Given the description of an element on the screen output the (x, y) to click on. 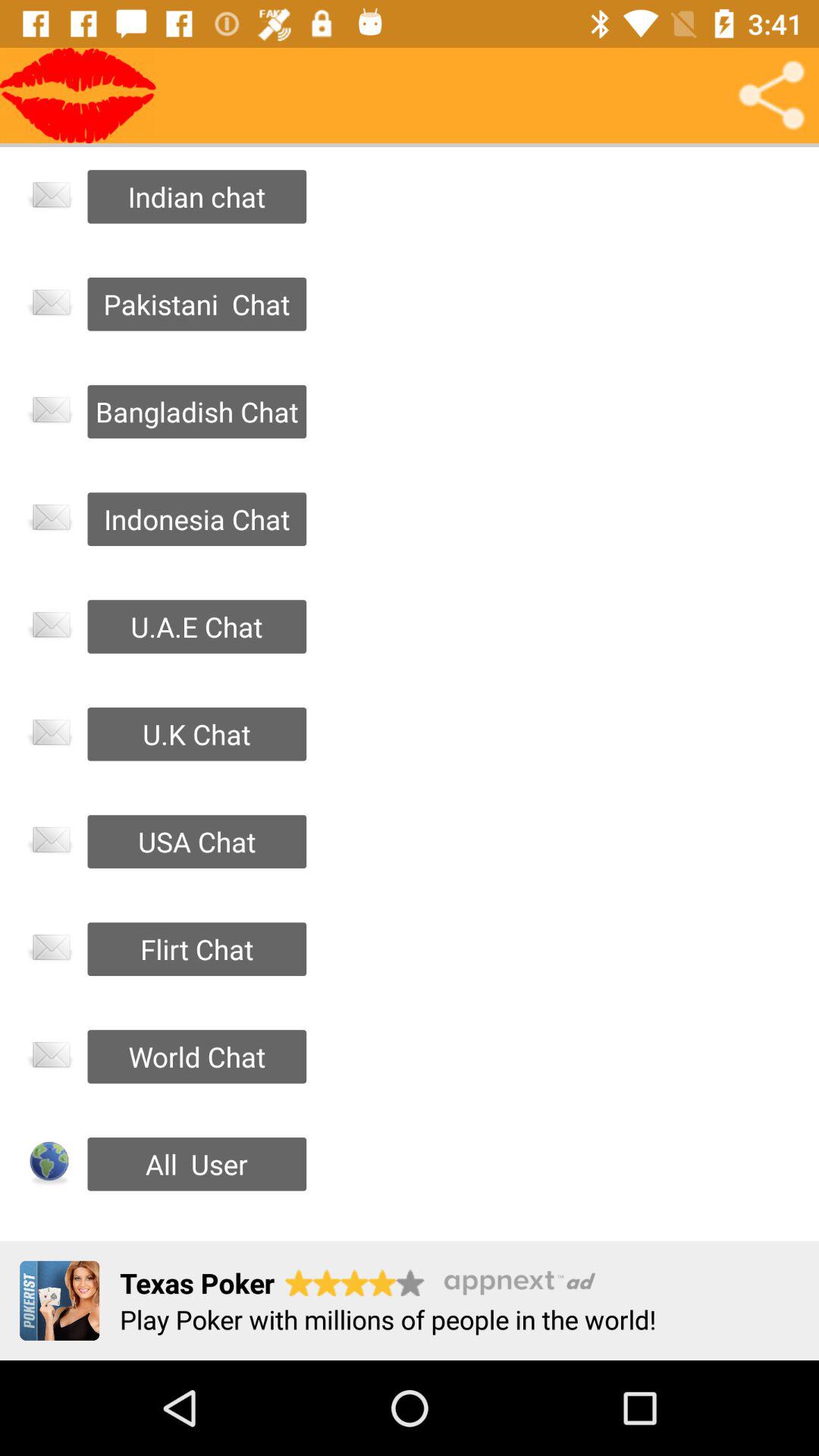
share chat (771, 95)
